Given the description of an element on the screen output the (x, y) to click on. 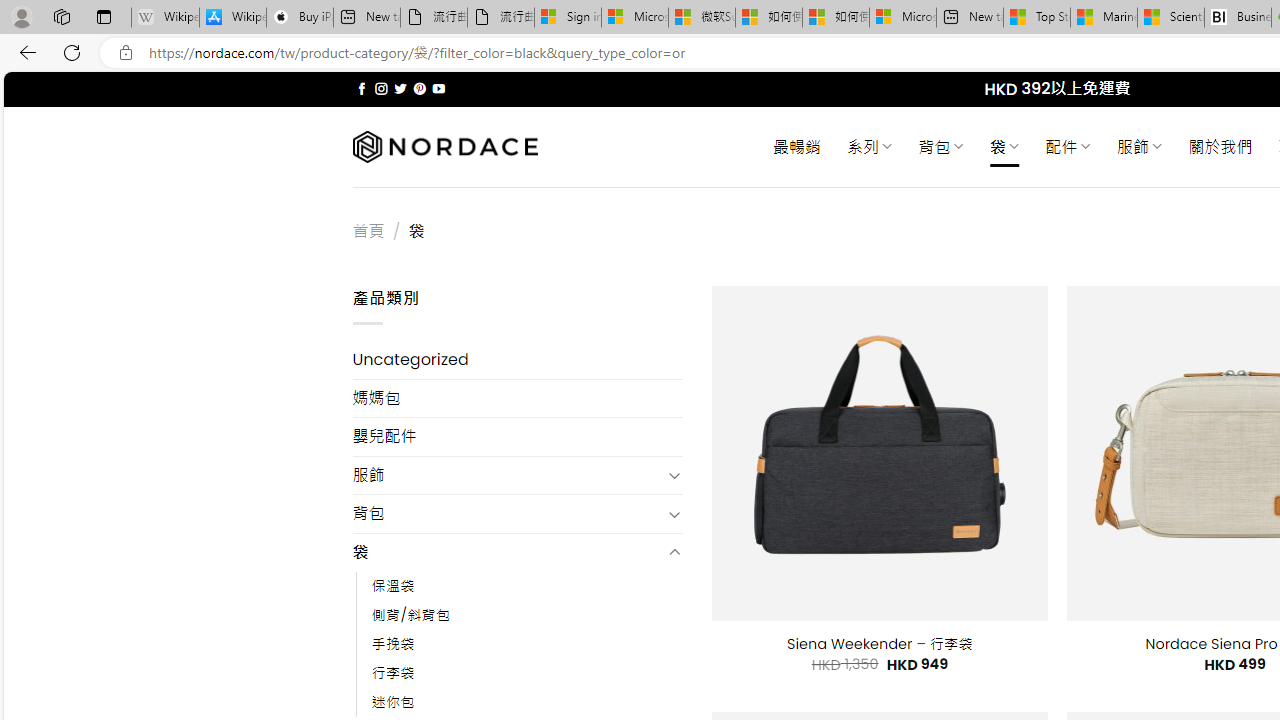
Follow on Facebook (361, 88)
Sign in to your Microsoft account (568, 17)
Follow on Twitter (400, 88)
Follow on YouTube (438, 88)
